Given the description of an element on the screen output the (x, y) to click on. 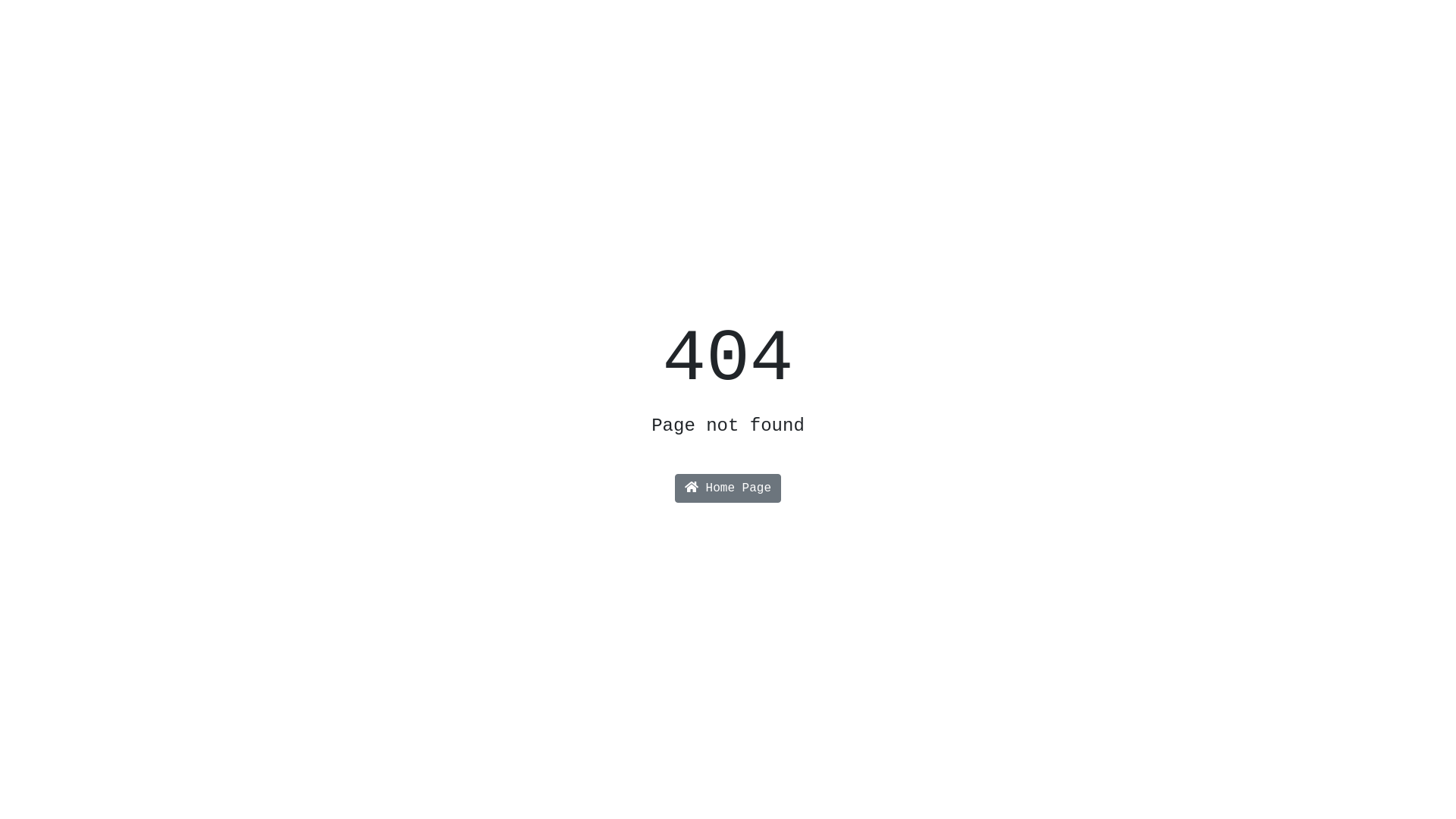
Home Page Element type: text (727, 487)
